Given the description of an element on the screen output the (x, y) to click on. 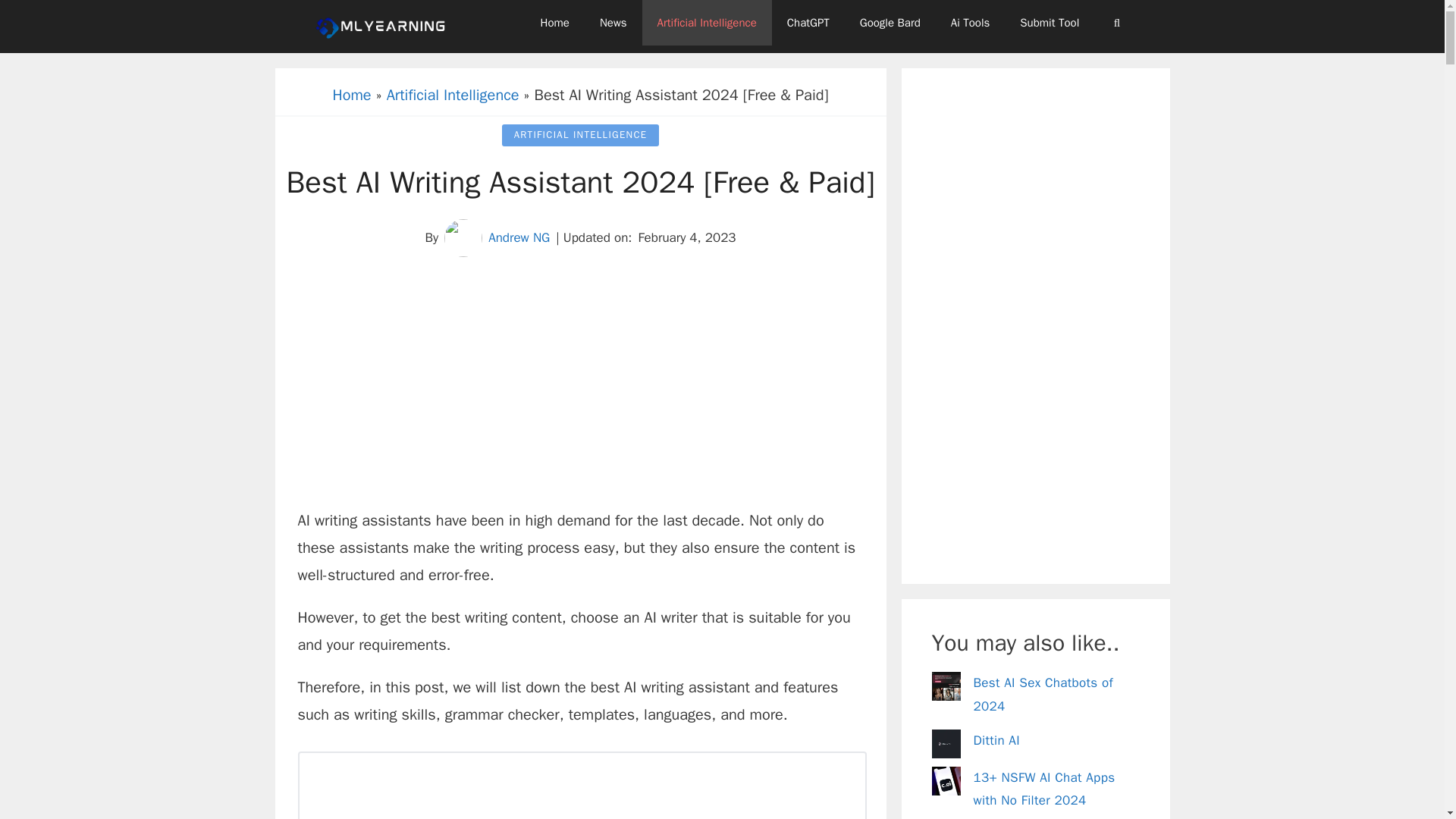
Home (555, 22)
News (613, 22)
Ai Tools (971, 22)
ChatGPT (807, 22)
Artificial Intelligence (706, 22)
Submit Tool (1049, 22)
ARTIFICIAL INTELLIGENCE (580, 135)
Advertisement (580, 393)
Home (352, 94)
MLYearning (380, 26)
Andrew NG (518, 236)
Google Bard (890, 22)
MLYearning (384, 26)
Artificial Intelligence (453, 94)
